Given the description of an element on the screen output the (x, y) to click on. 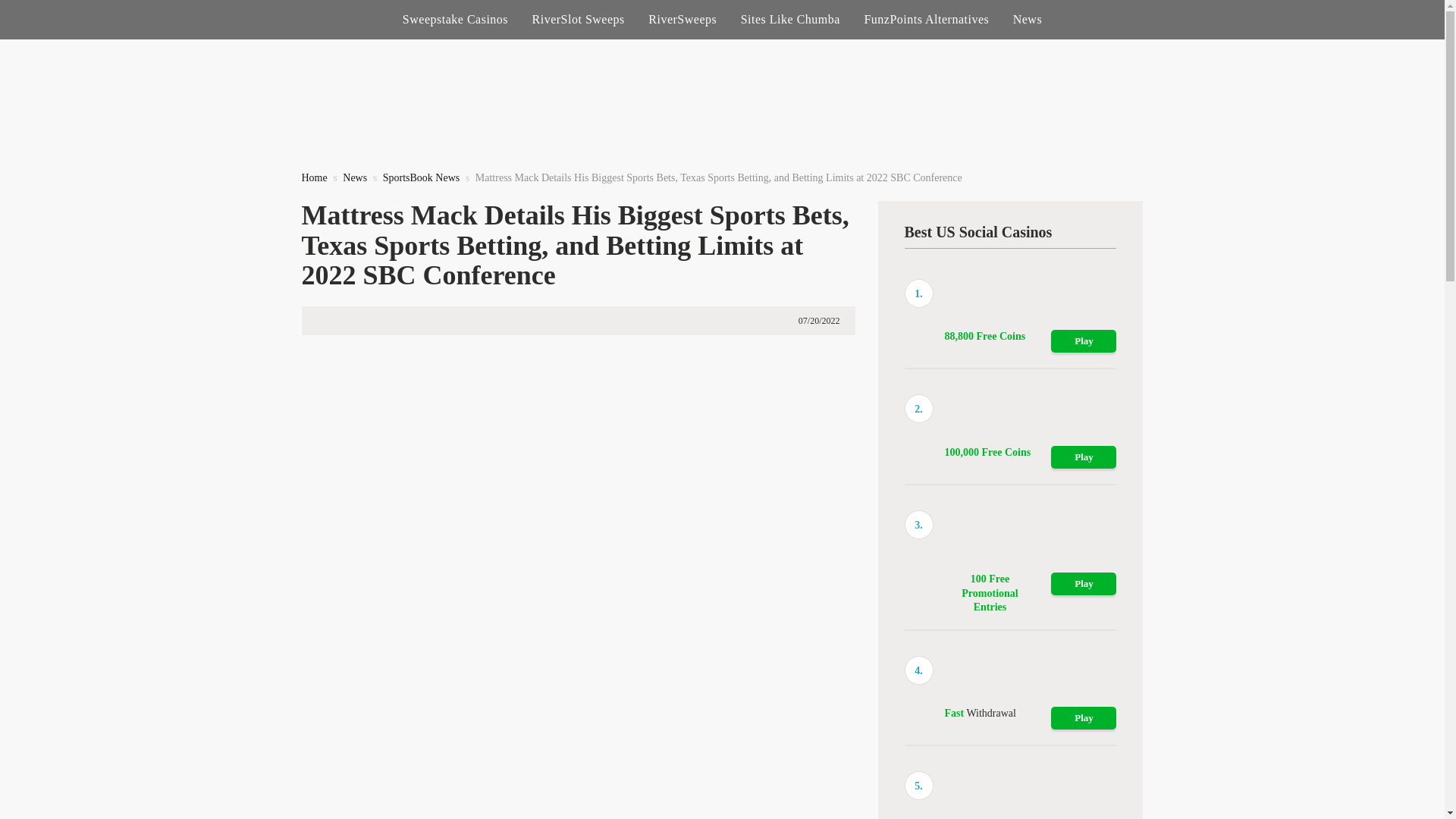
SportsBook News (421, 177)
Play (1083, 341)
Play (1083, 456)
Home (314, 177)
News (354, 177)
Home (314, 177)
RiverSlot Sweeps (578, 19)
Sites Like Chumba (790, 19)
News (354, 177)
Sweepstake Casinos (455, 19)
SportsBook News (421, 177)
FunzPoints Alternatives (925, 19)
Play (1083, 717)
RiverSweeps (681, 19)
